Given the description of an element on the screen output the (x, y) to click on. 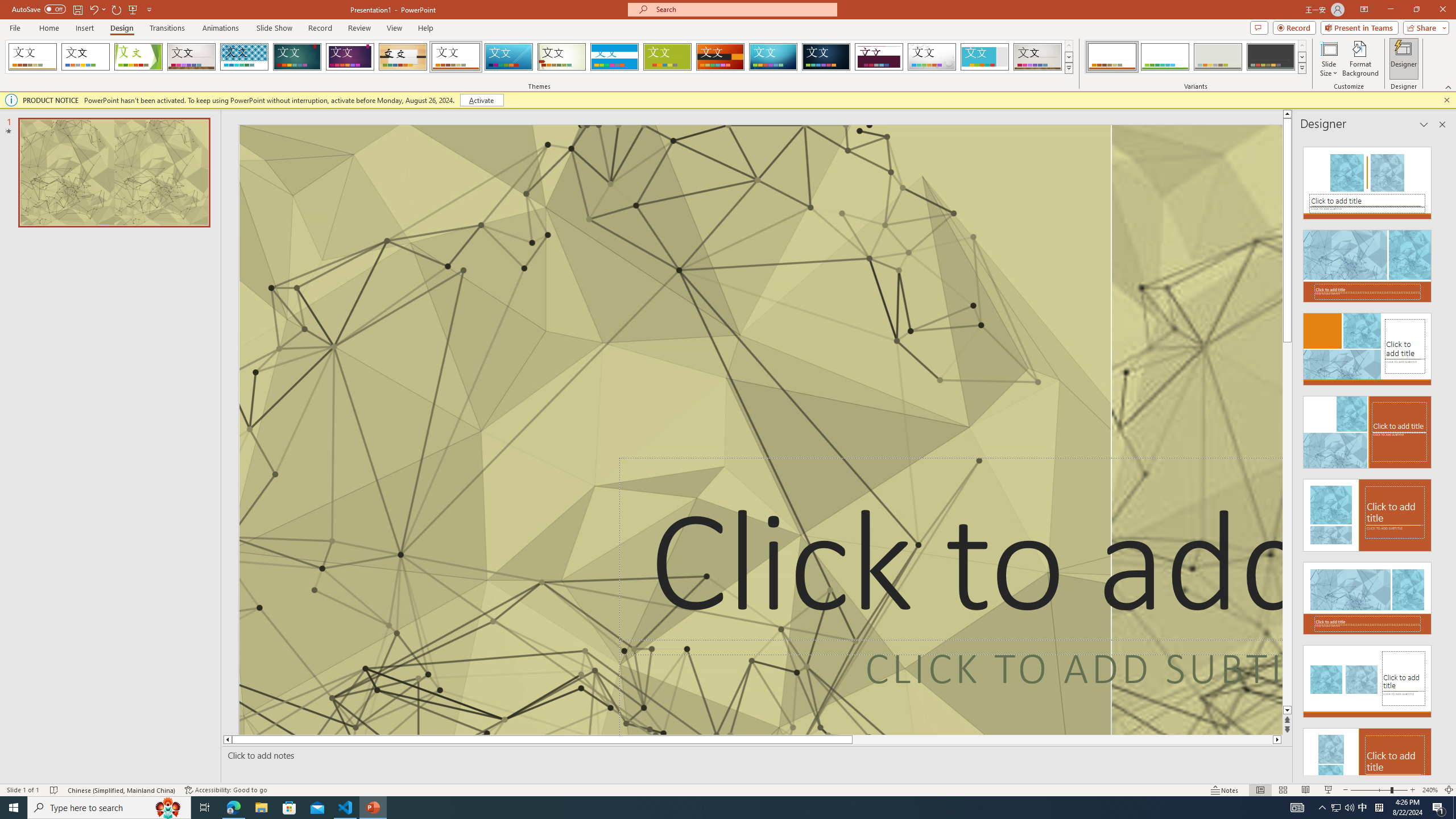
Accessibility Checker Accessibility: Good to go (226, 790)
Title TextBox (950, 556)
AutomationID: ThemeVariantsGallery (1195, 56)
Zoom 240% (1430, 790)
